Given the description of an element on the screen output the (x, y) to click on. 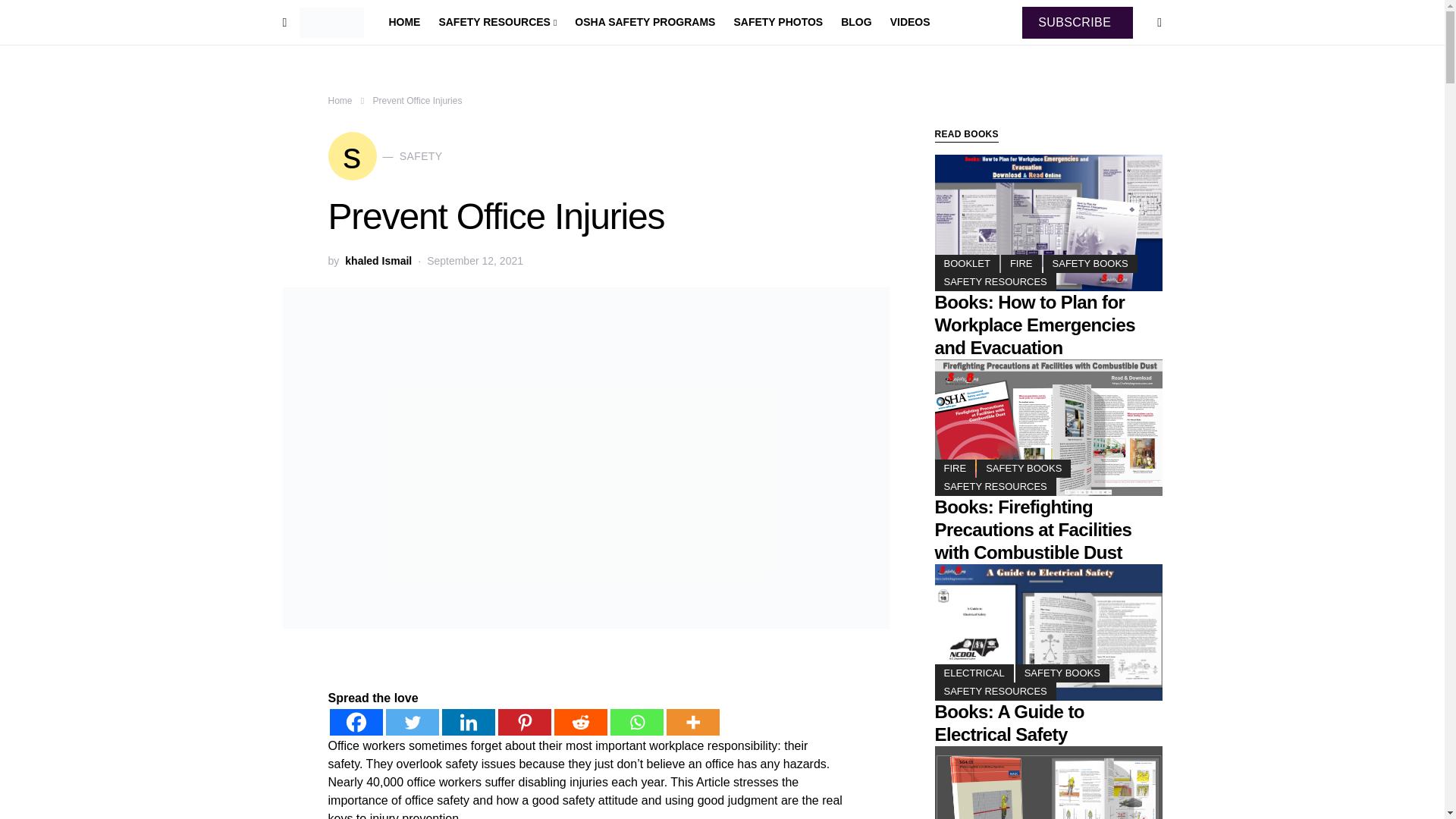
Facebook (308, 698)
View all posts by khaled Ismail (378, 263)
Pinterest (468, 698)
Linkedin (414, 698)
Twitter (361, 698)
Reddit (521, 698)
Whatsapp (573, 698)
HOME (408, 22)
SAFETY RESOURCES (497, 22)
More (629, 698)
